Given the description of an element on the screen output the (x, y) to click on. 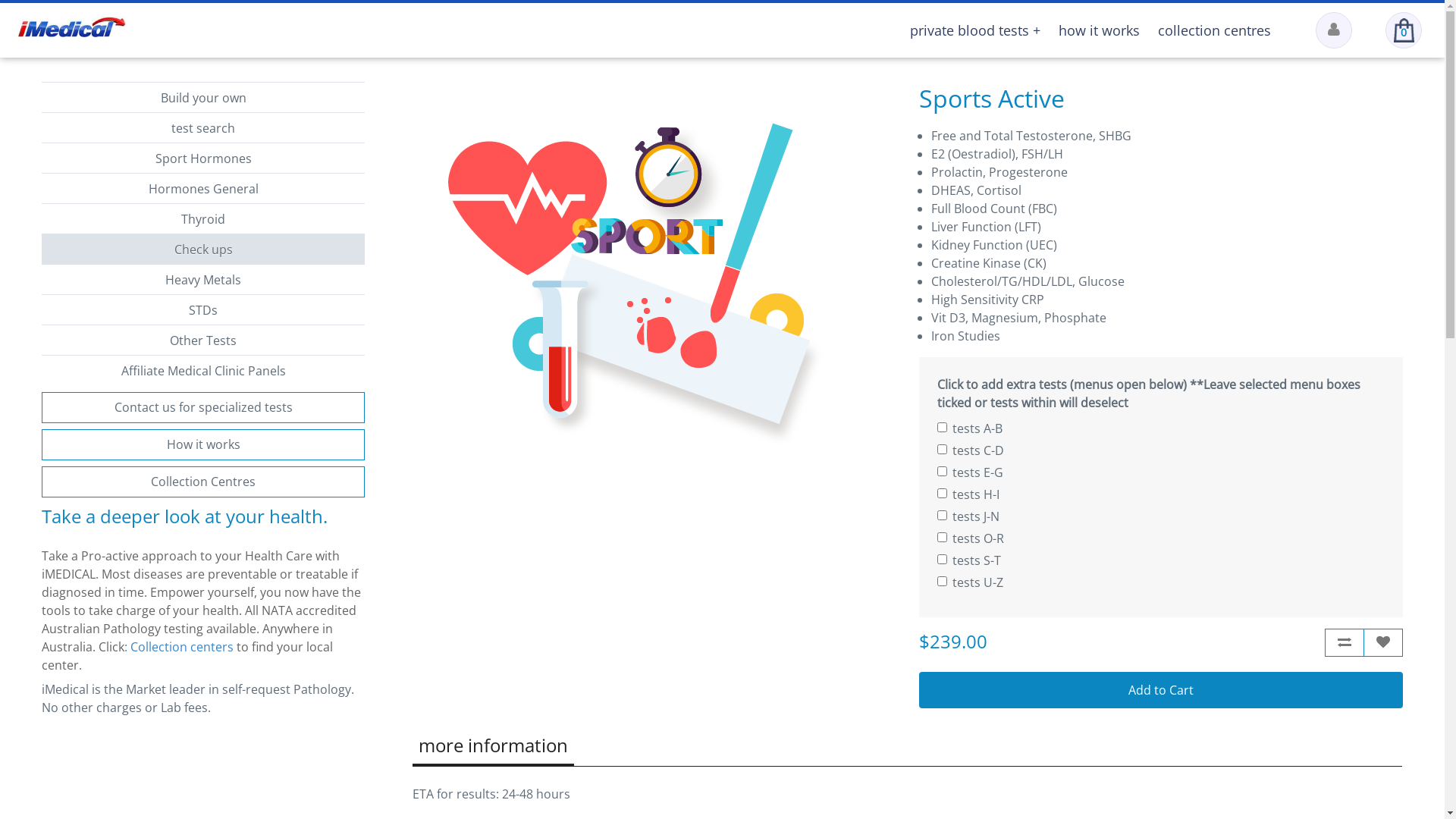
Heavy Metals Element type: text (202, 278)
Contact us for specialized tests Element type: text (203, 406)
How it works Element type: text (203, 444)
Sport Hormones Element type: text (202, 157)
collection centres Element type: text (1214, 30)
STDs Element type: text (202, 309)
Check ups Element type: text (202, 248)
Add to Cart Element type: text (1160, 689)
Hormones General Element type: text (202, 187)
Collection Centres Element type: text (202, 481)
Thyroid Element type: text (202, 218)
Sports Active Element type: hover (653, 268)
Collection centers Element type: text (181, 646)
how it works Element type: text (1098, 30)
Affiliate Medical Clinic Panels Element type: text (202, 369)
0 Element type: text (1403, 30)
Other Tests Element type: text (202, 339)
test search Element type: text (202, 127)
iMEDICAL: Order private blood and hormone tests Element type: hover (70, 26)
more information Element type: text (493, 746)
Sports Active Element type: hover (641, 268)
Build your own Element type: text (202, 96)
private blood tests Element type: text (974, 30)
